Given the description of an element on the screen output the (x, y) to click on. 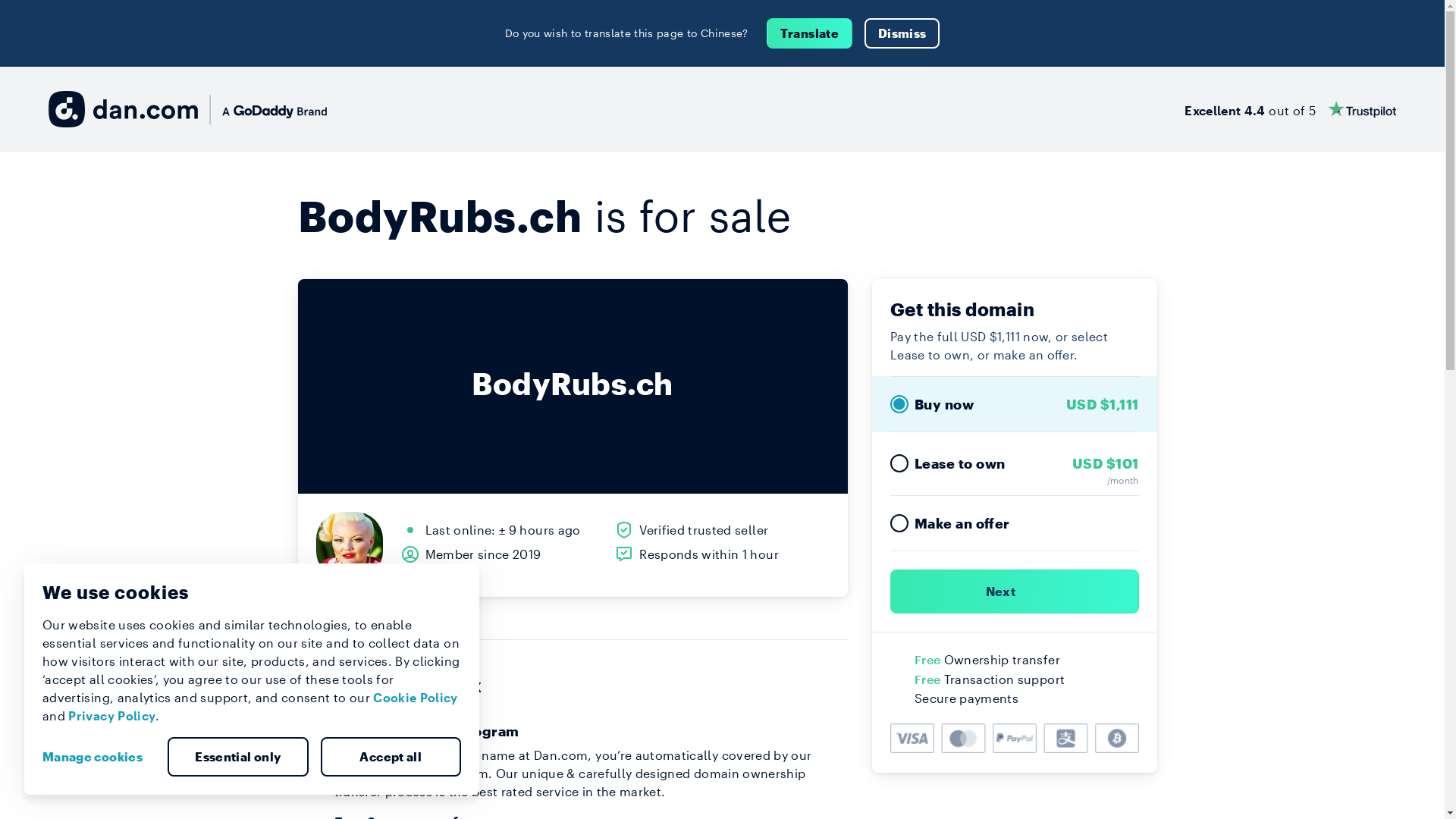
Privacy Policy Element type: text (111, 715)
Translate Element type: text (809, 33)
Accept all Element type: text (390, 756)
Excellent 4.4 out of 5 Element type: text (1290, 109)
Essential only Element type: text (237, 756)
Manage cookies Element type: text (98, 756)
Next
) Element type: text (1014, 591)
Dismiss Element type: text (901, 33)
Cookie Policy Element type: text (415, 697)
